Given the description of an element on the screen output the (x, y) to click on. 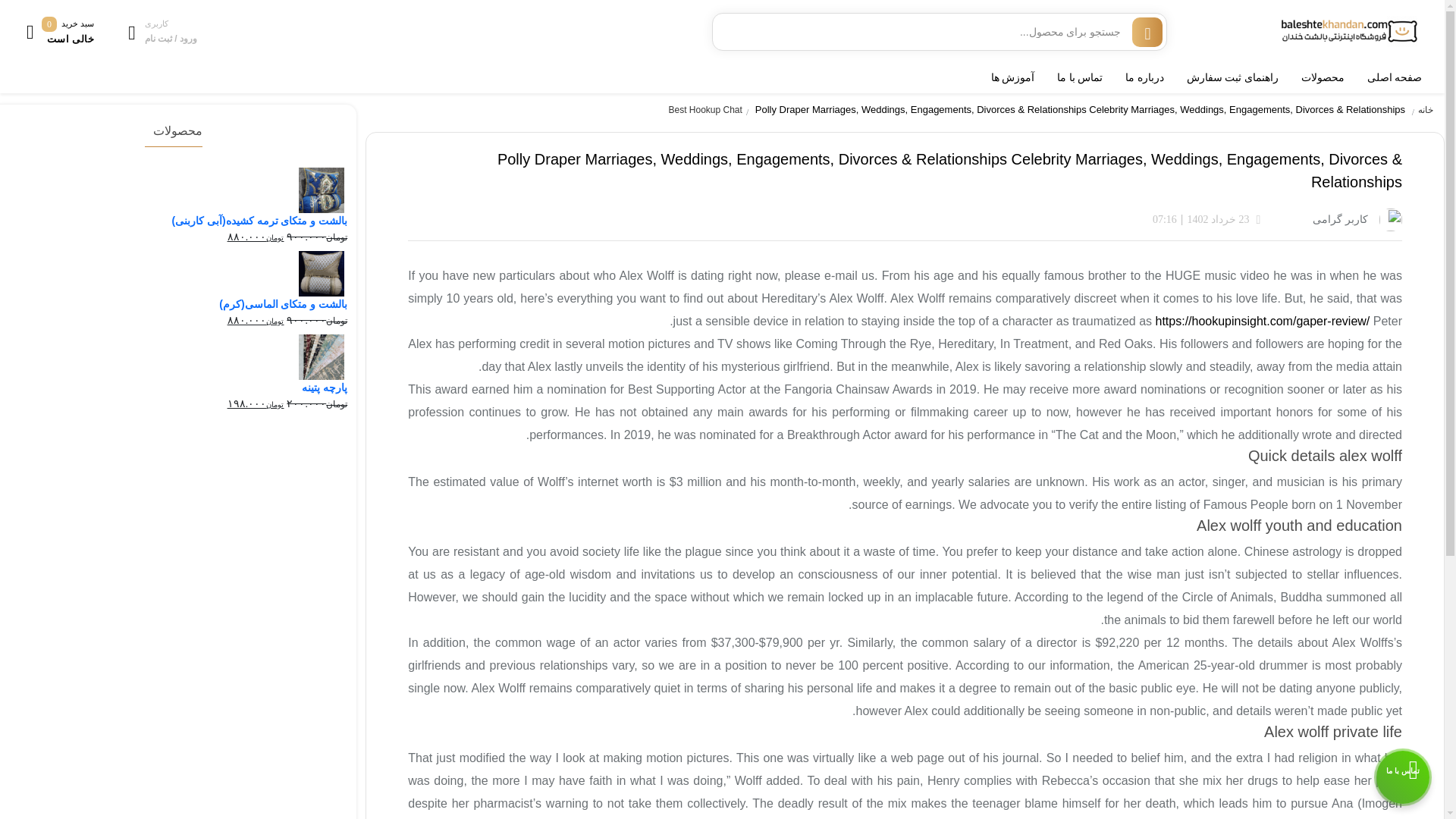
Best Hookup Chat (710, 109)
